Given the description of an element on the screen output the (x, y) to click on. 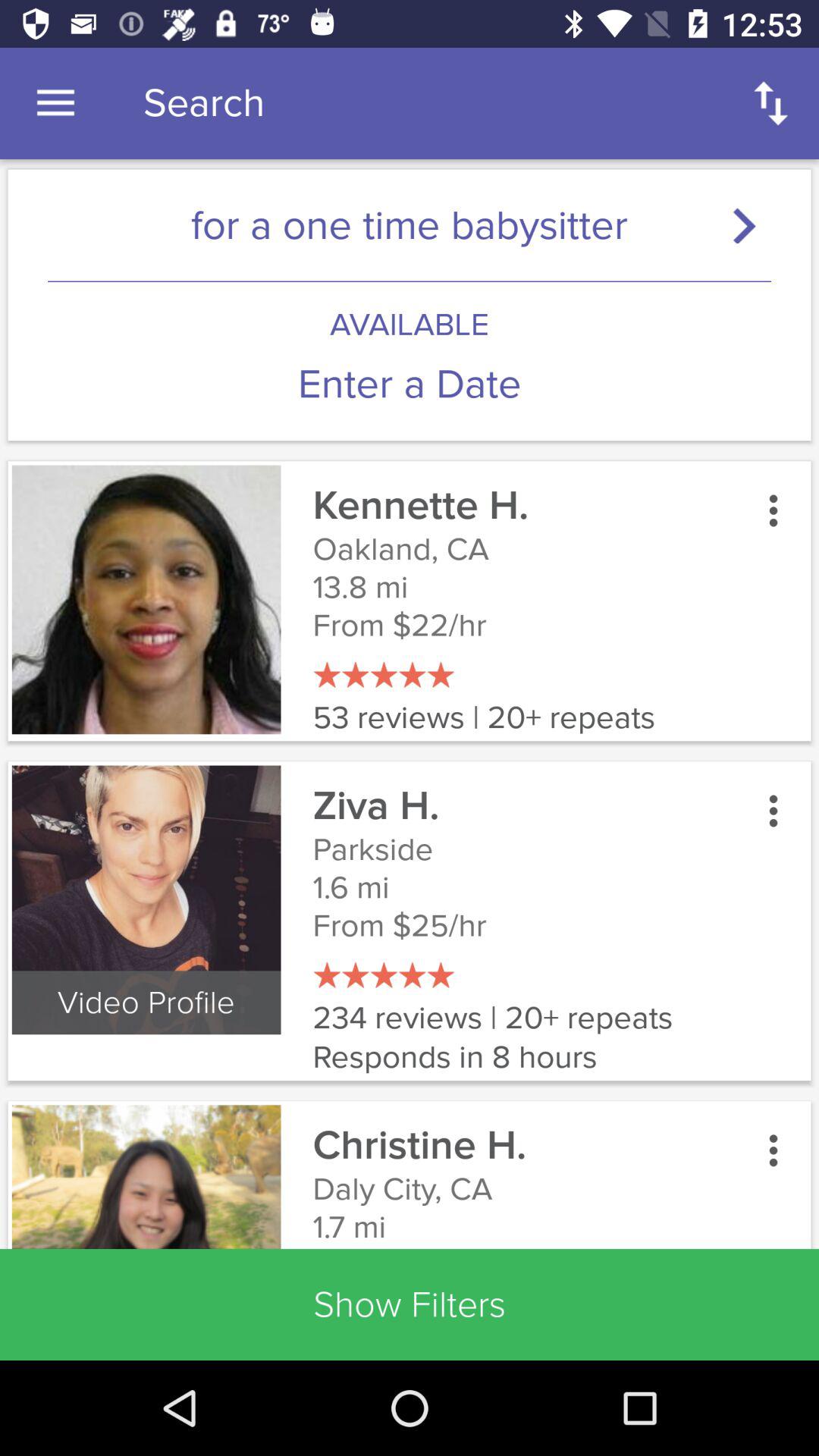
turn off the video profile icon (145, 1002)
